Given the description of an element on the screen output the (x, y) to click on. 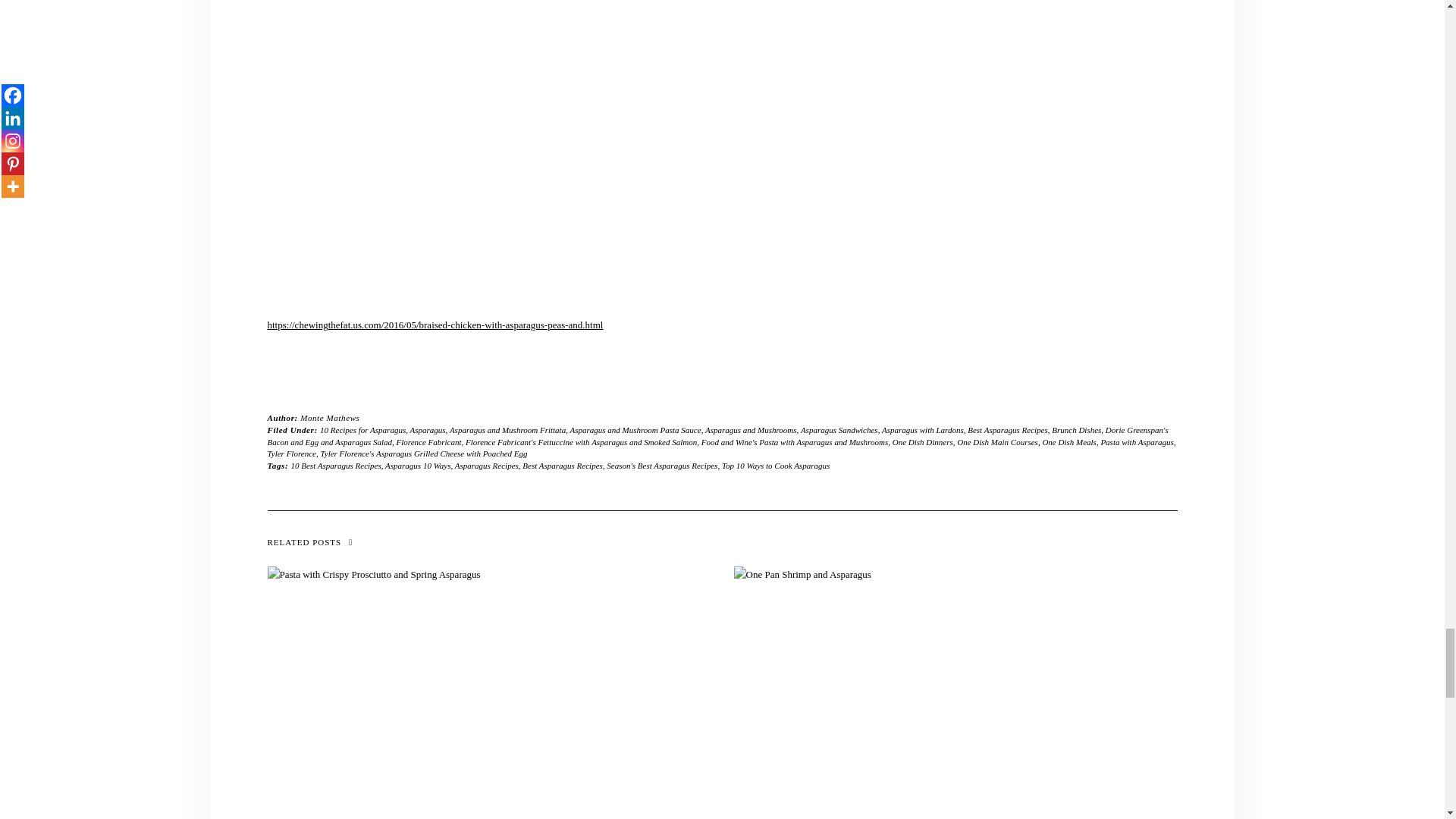
Posts by Monte Mathews (329, 417)
